Given the description of an element on the screen output the (x, y) to click on. 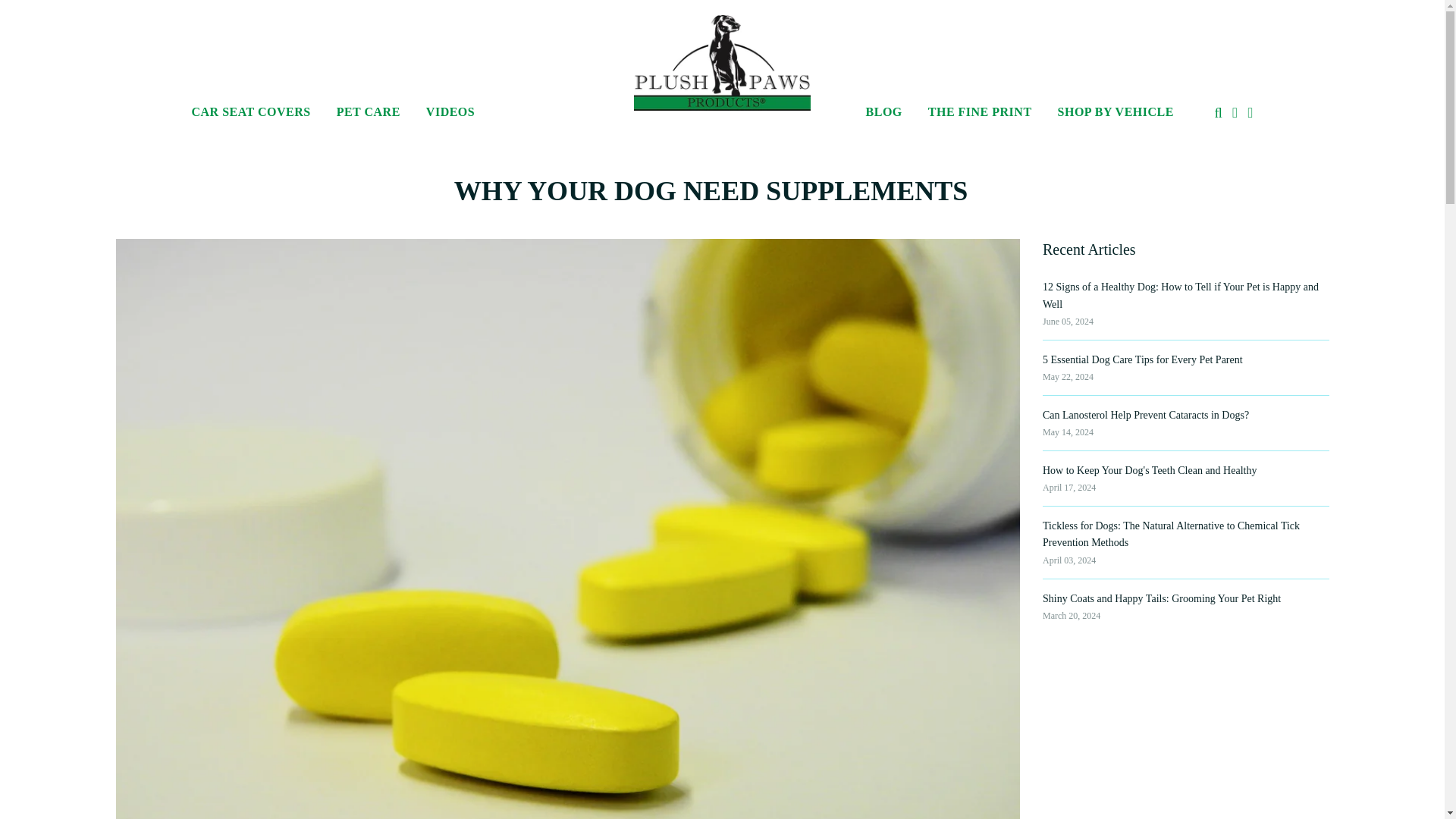
VIDEOS (444, 106)
SHOP BY VEHICLE (1109, 106)
PET CARE (368, 106)
BLOG (884, 106)
CAR SEAT COVERS (250, 106)
THE FINE PRINT (980, 106)
Log in (1234, 111)
